Given the description of an element on the screen output the (x, y) to click on. 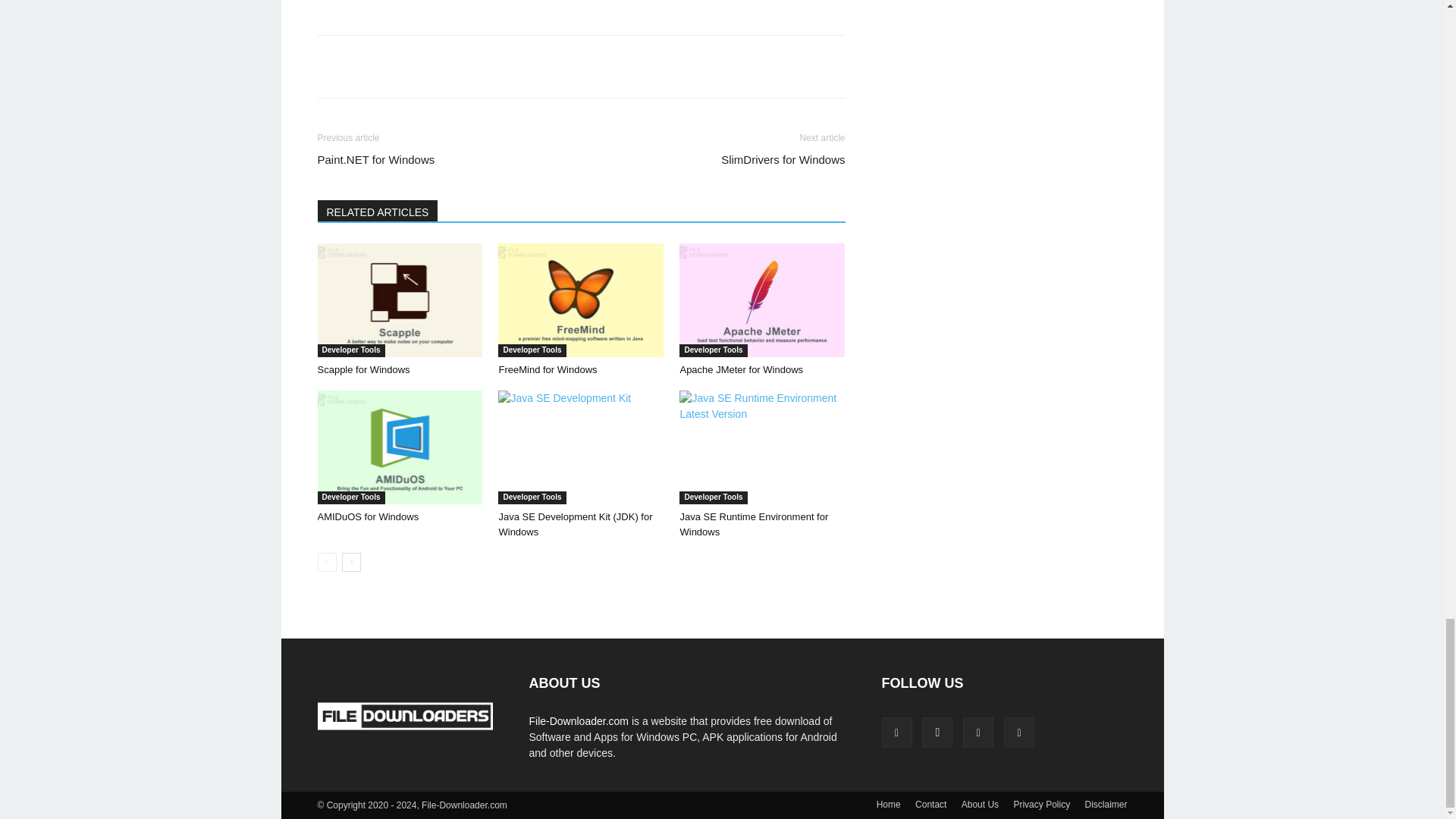
FreeMind for Windows (546, 369)
Scapple for Windows (363, 369)
SlimDrivers for Windows (782, 159)
Scapple for Windows (399, 300)
FreeMind for Windows (580, 300)
Scapple for Windows (363, 369)
Paint.NET for Windows (375, 159)
RELATED ARTICLES (377, 210)
Developer Tools (350, 350)
